Given the description of an element on the screen output the (x, y) to click on. 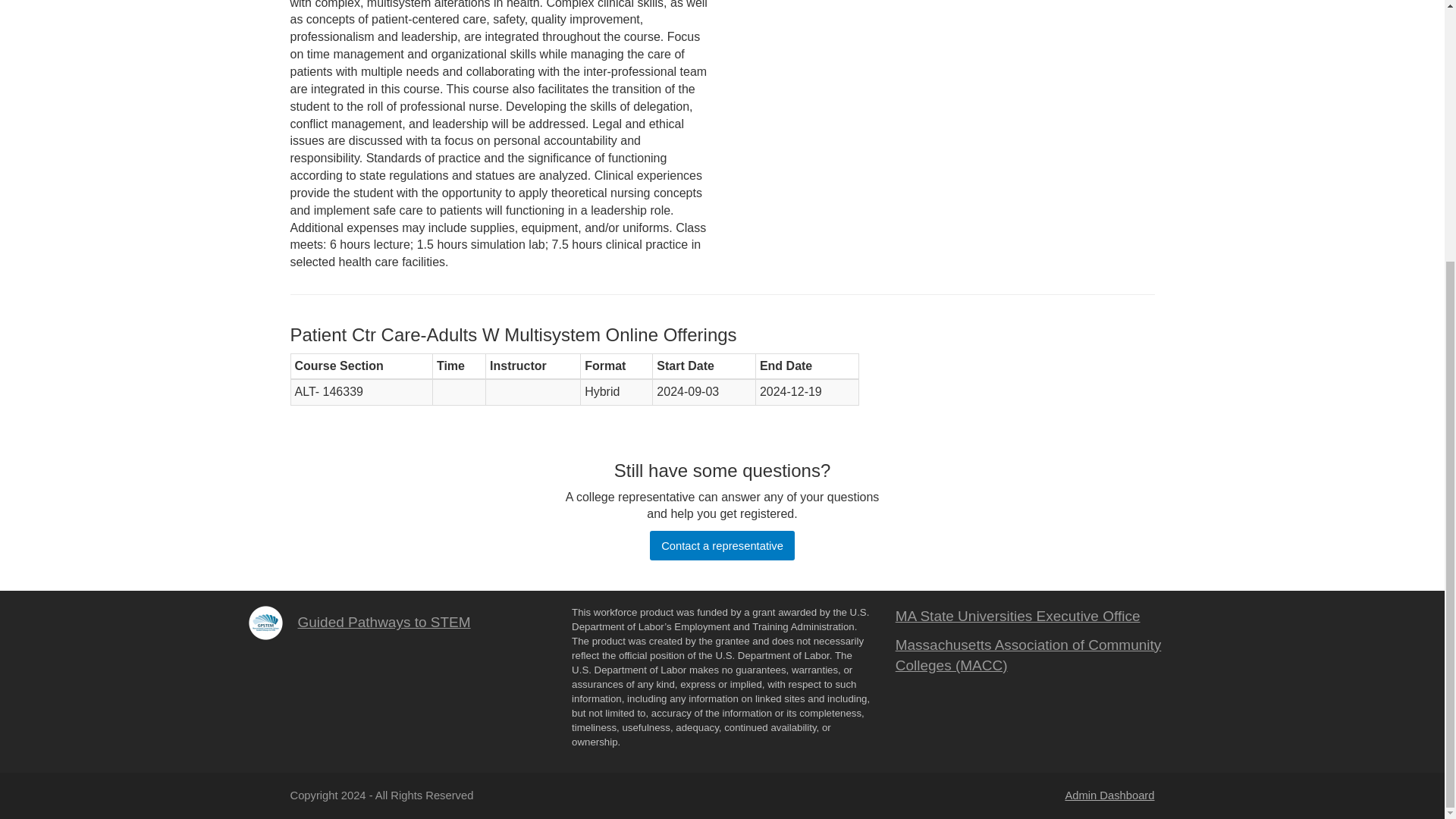
Guided Pathways to STEM (383, 621)
GPSTEM (265, 622)
Admin Dashboard (1109, 795)
MA State Universities Executive Office (1017, 616)
Contact a representative (721, 545)
